Given the description of an element on the screen output the (x, y) to click on. 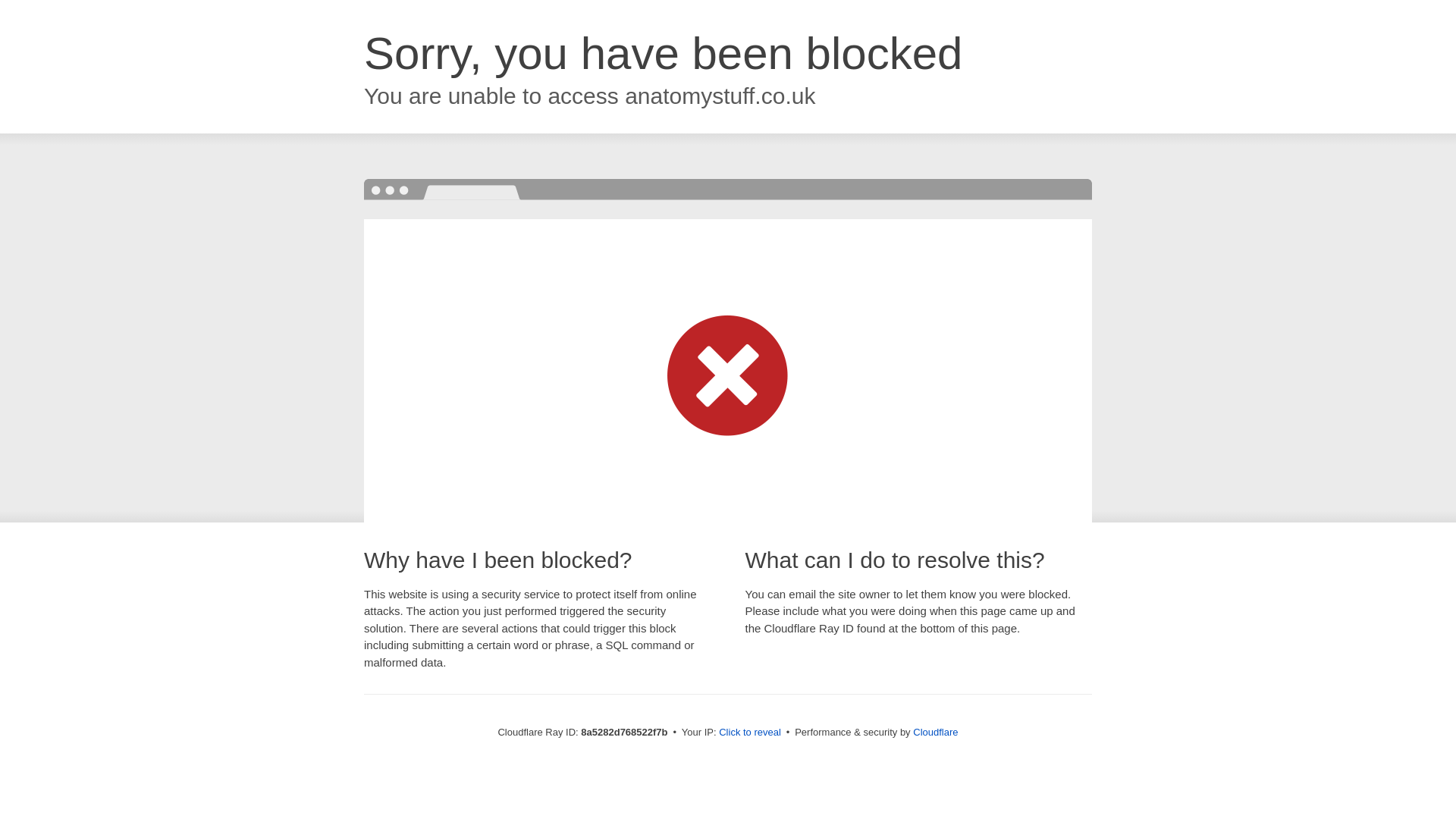
Click to reveal (749, 732)
Cloudflare (935, 731)
